Given the description of an element on the screen output the (x, y) to click on. 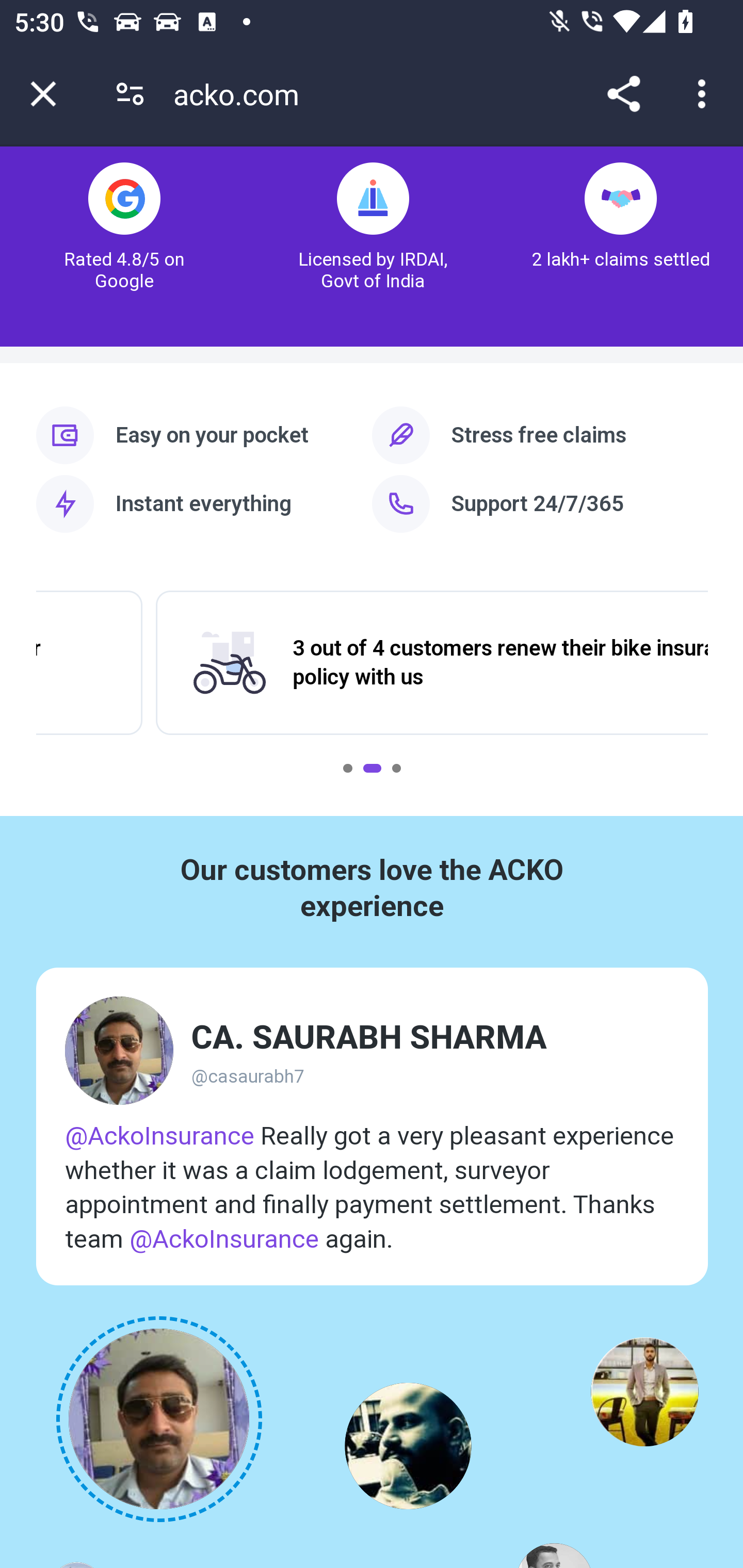
Close tab (43, 93)
Share (623, 93)
Customize and control Google Chrome (705, 93)
Connection is secure (129, 93)
acko.com (243, 93)
